Given the description of an element on the screen output the (x, y) to click on. 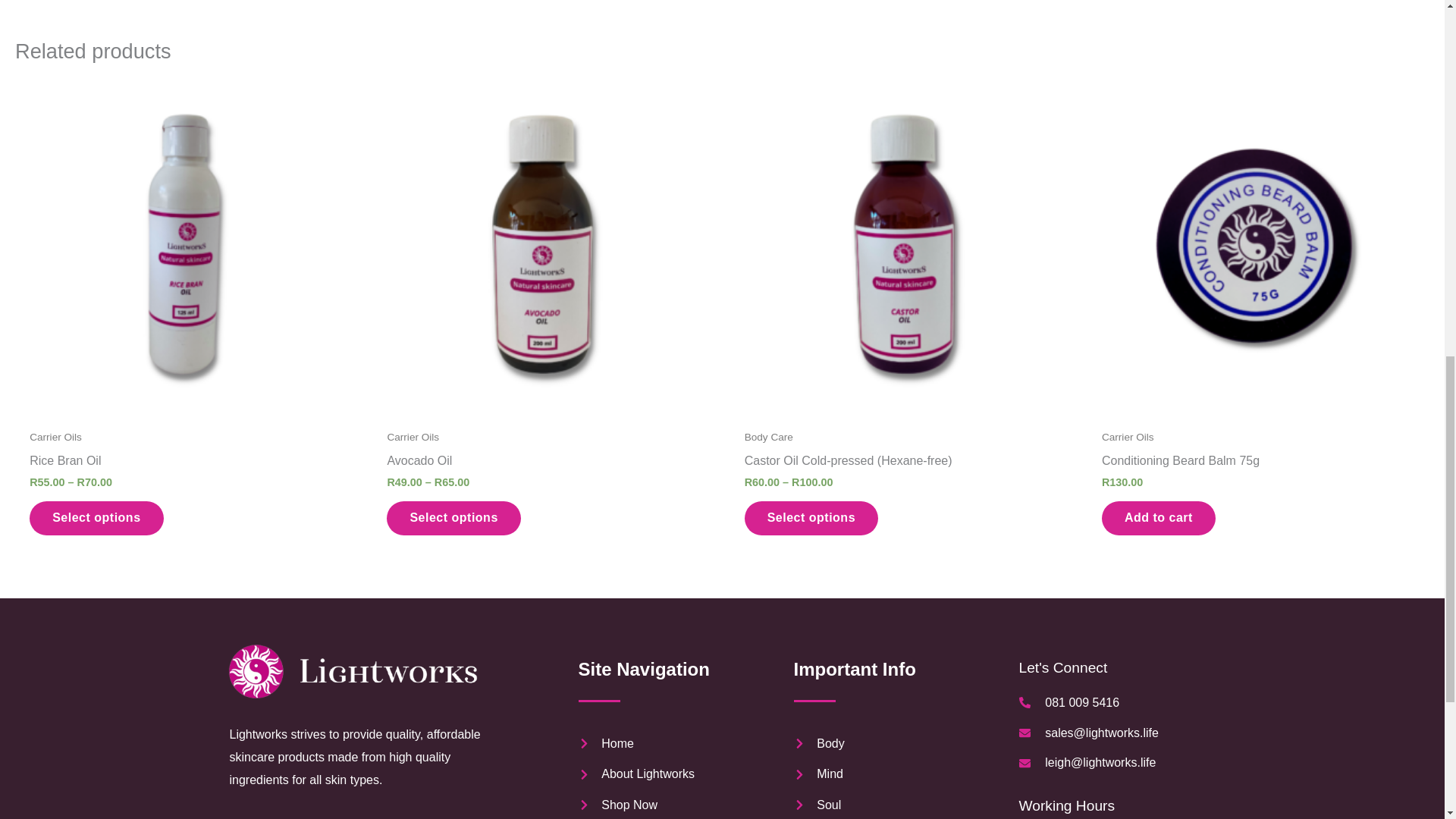
Rice Bran Oil (185, 464)
Select options (96, 518)
Argan-Oil-50ml.png (311, 6)
